Given the description of an element on the screen output the (x, y) to click on. 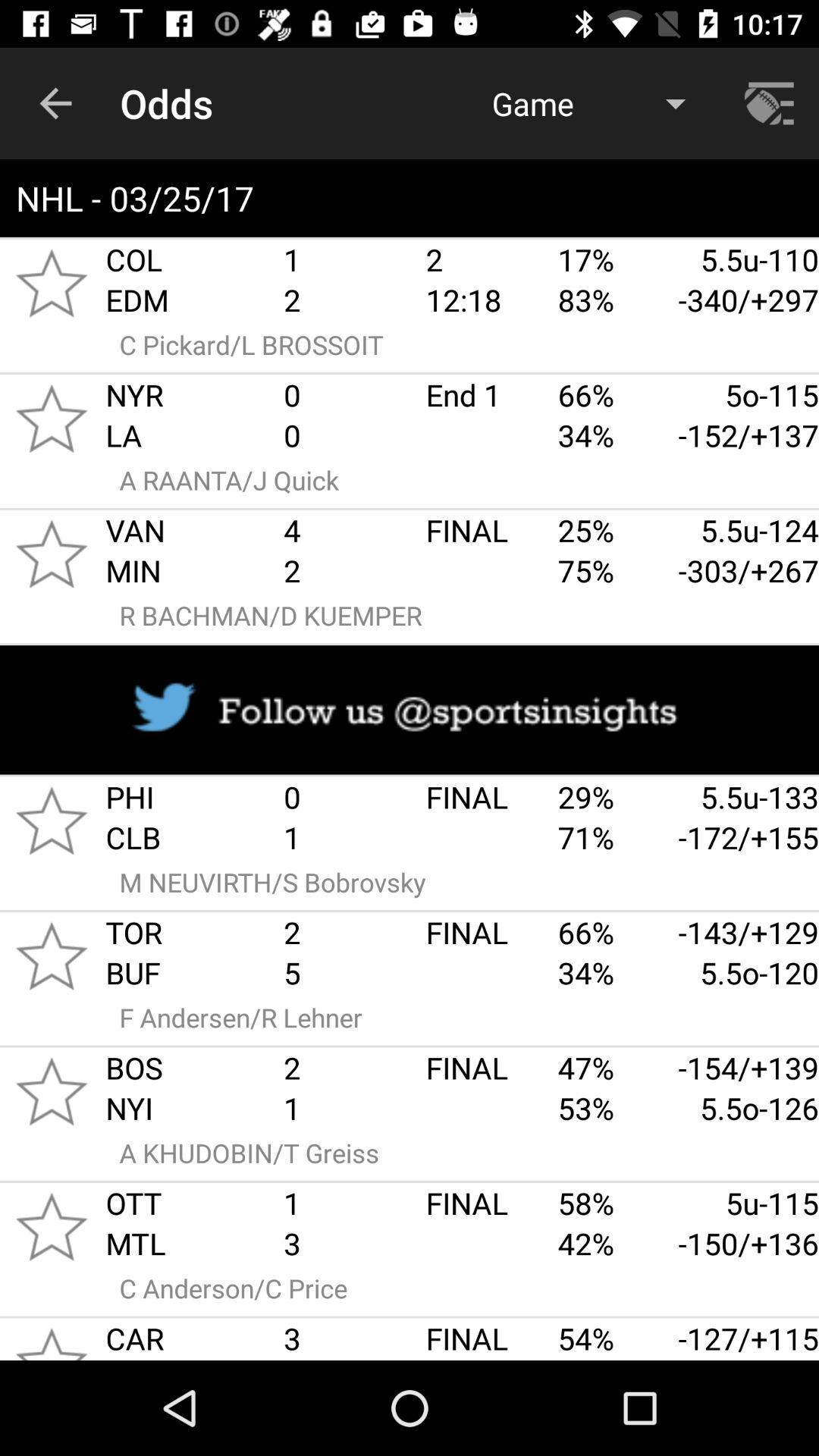
navigation menu (771, 103)
